Given the description of an element on the screen output the (x, y) to click on. 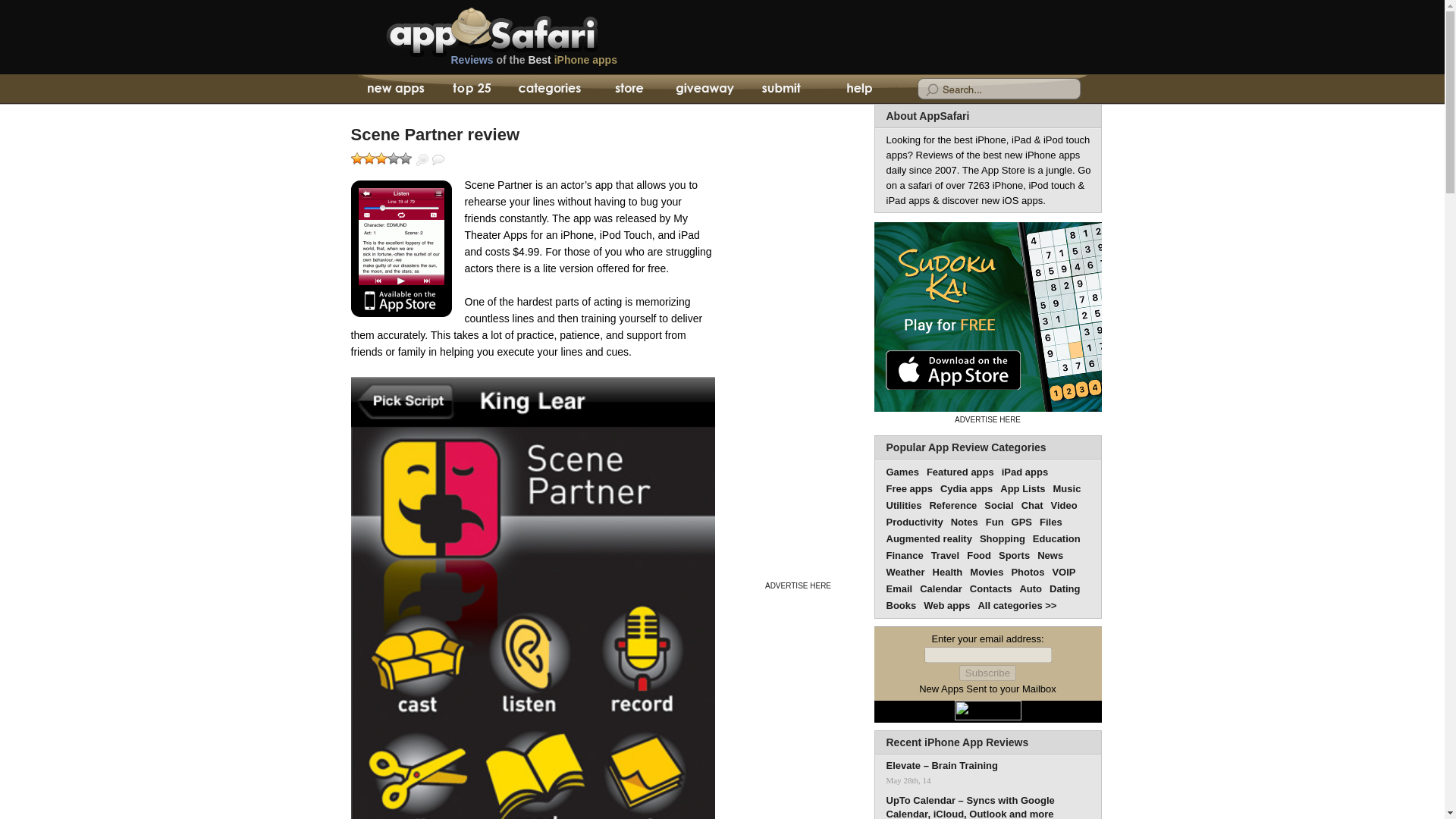
Submit (781, 89)
Tweet (571, 156)
Great (392, 158)
Awful (356, 158)
Top 25 (471, 89)
Reviews of the Best iPhone apps (588, 64)
Popular App Review Categories (965, 447)
Help with using iPhone Apps (858, 89)
Subscribe (987, 672)
ADVERTISE HERE (797, 585)
